Given the description of an element on the screen output the (x, y) to click on. 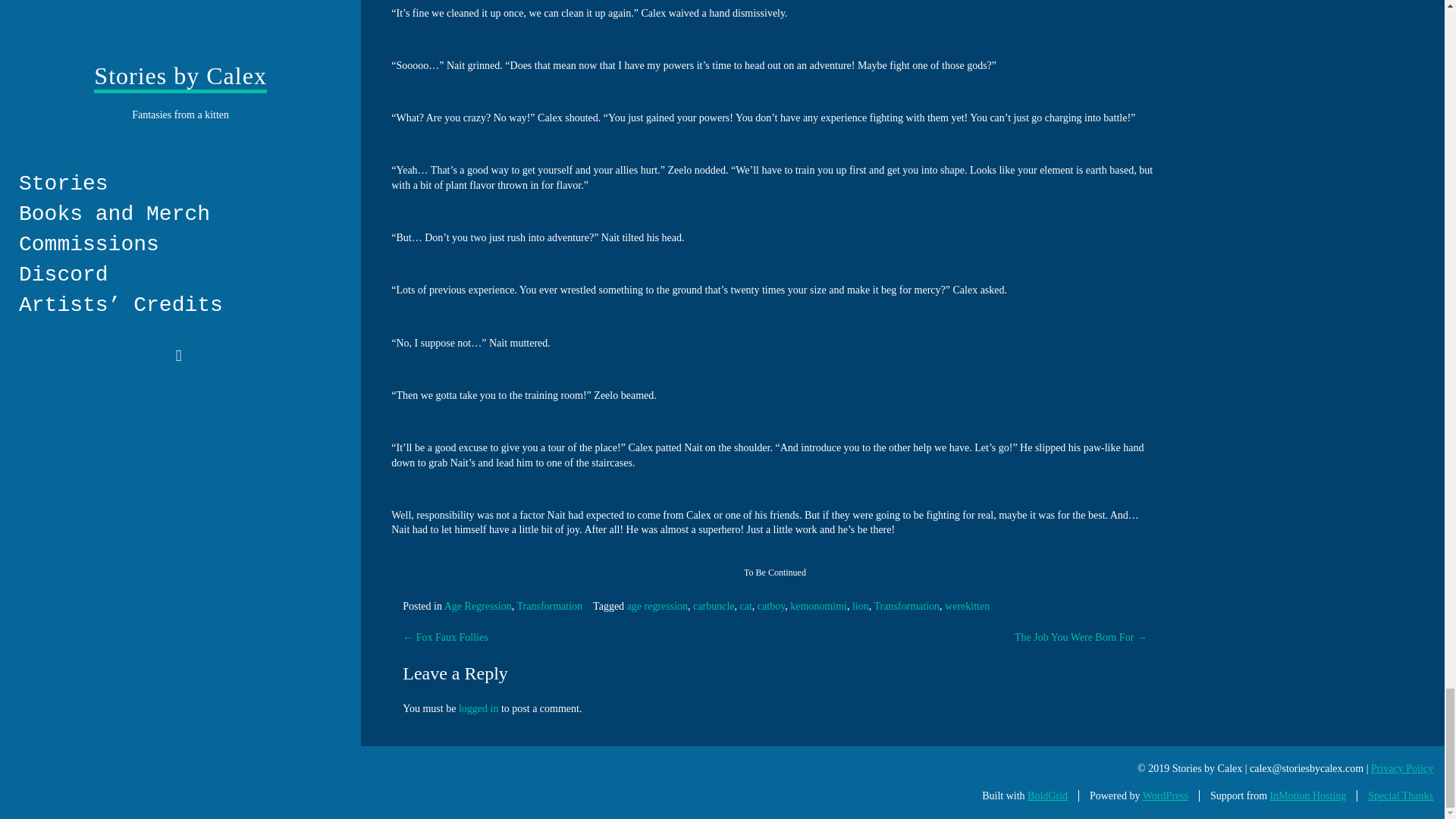
Transformation (549, 605)
cat (745, 605)
catboy (770, 605)
Transformation (906, 605)
carbuncle (713, 605)
BoldGrid (1047, 795)
logged in (478, 708)
Privacy Policy (1401, 767)
age regression (657, 605)
werekitten (967, 605)
